Given the description of an element on the screen output the (x, y) to click on. 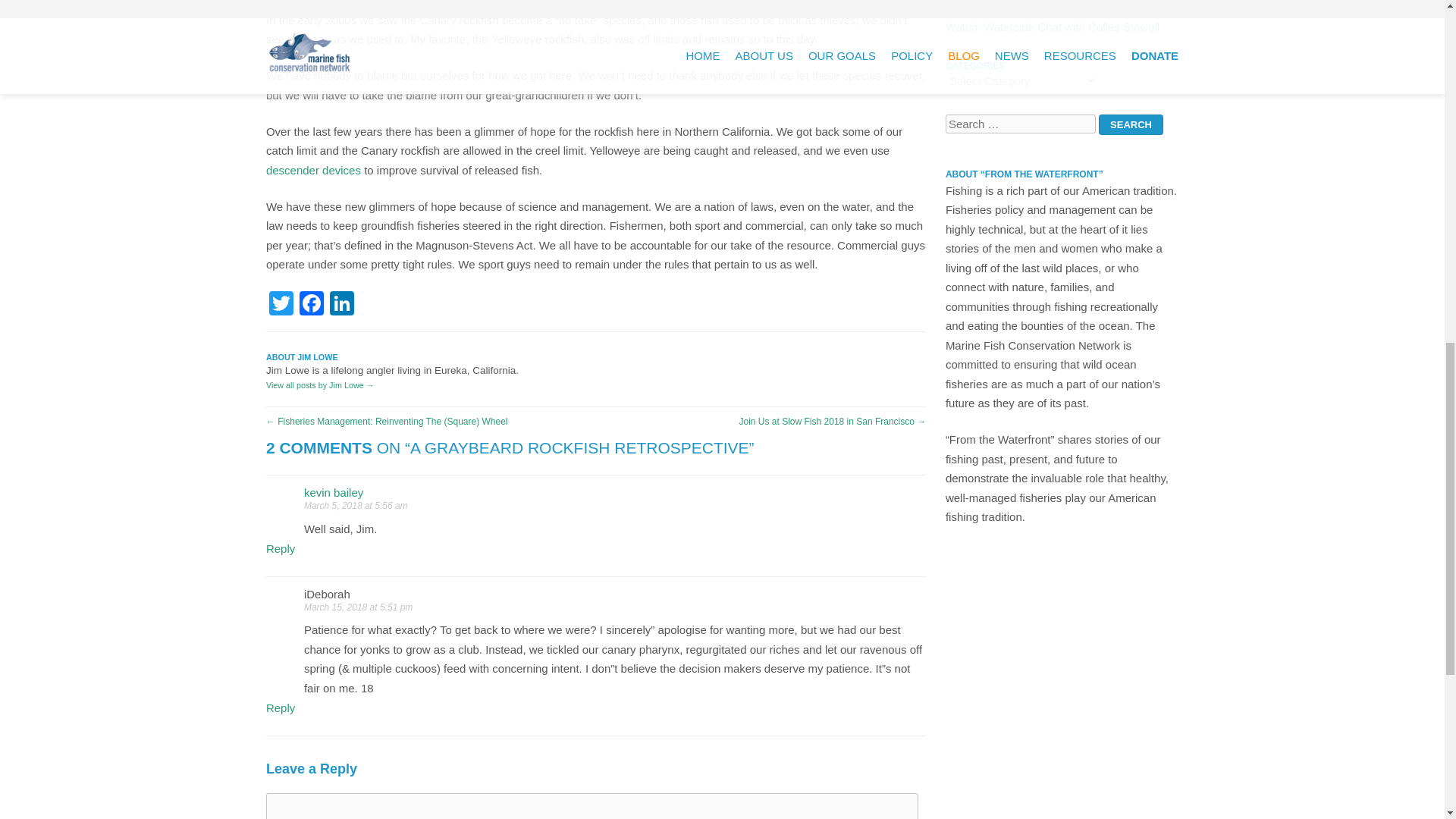
Twitter (281, 305)
descender devices (313, 169)
Facebook (311, 305)
Search (1131, 124)
Twitter (281, 305)
